Given the description of an element on the screen output the (x, y) to click on. 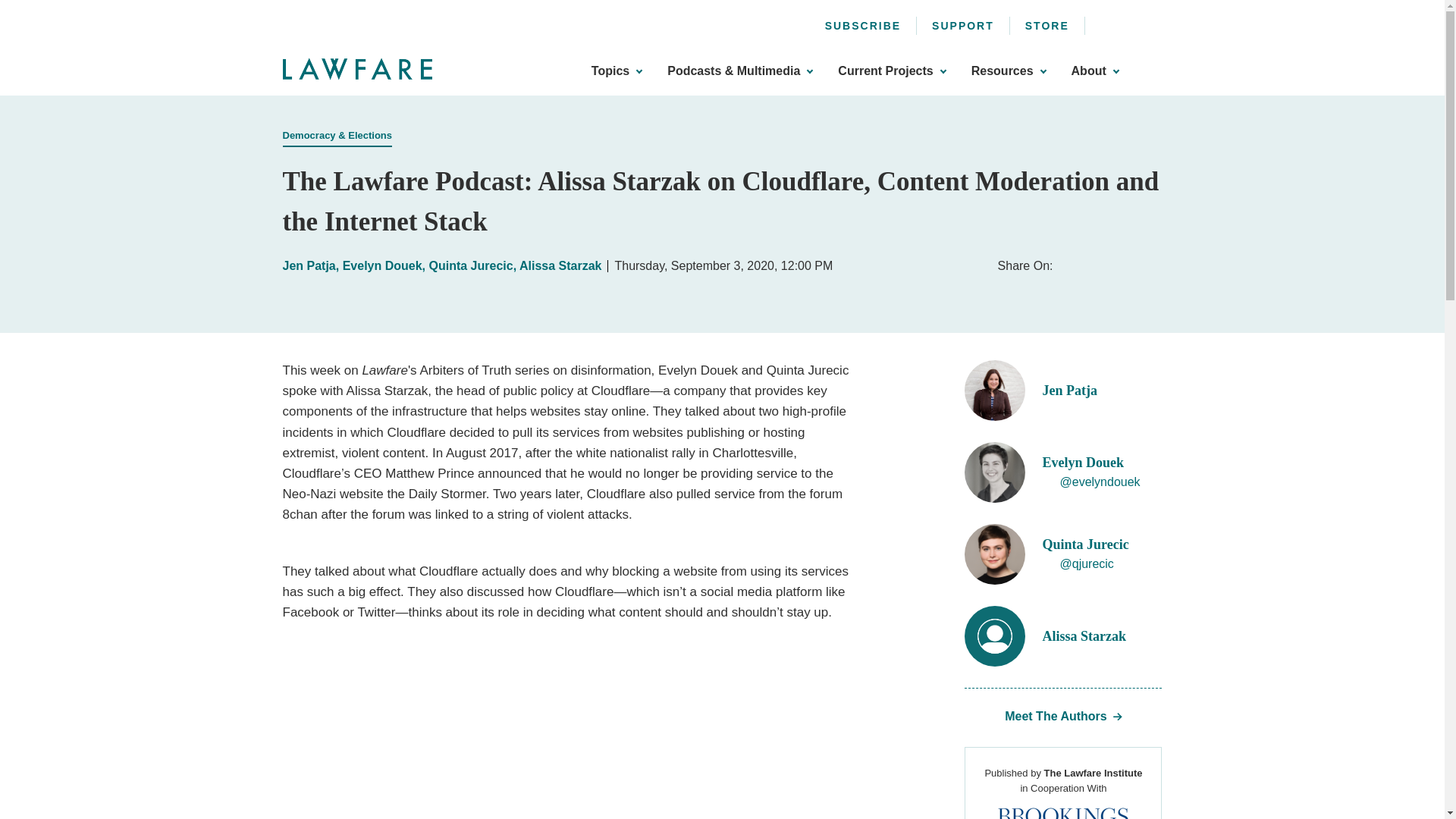
Current Projects (891, 70)
Twitter (1132, 22)
STORE (1046, 25)
SUBSCRIBE (863, 25)
Facebook (1107, 22)
LinkedIn (1155, 22)
SUPPORT (962, 25)
Topics (616, 70)
